Given the description of an element on the screen output the (x, y) to click on. 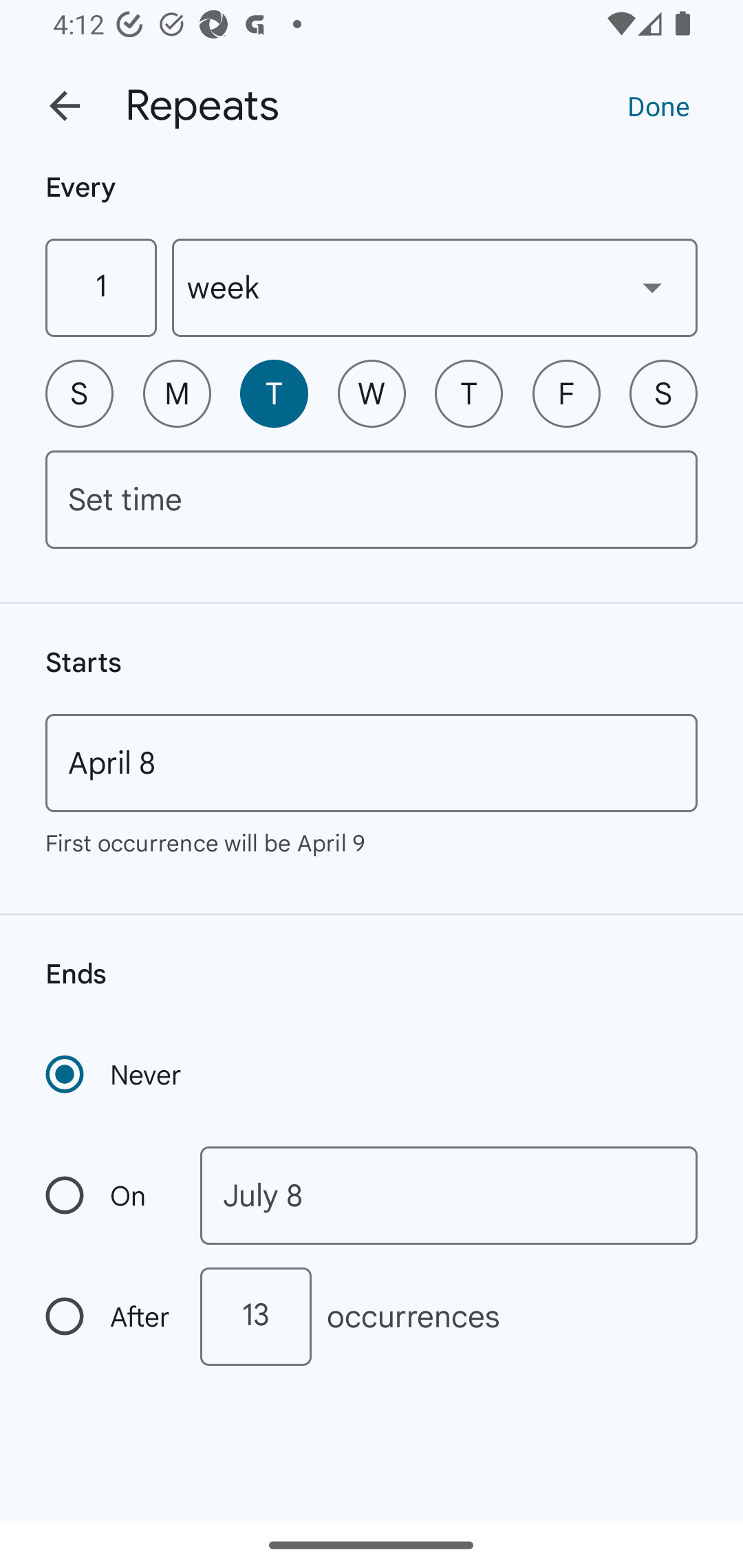
Back (64, 105)
Done (658, 105)
1 (100, 287)
week (434, 287)
Show dropdown menu (652, 286)
S Sunday (79, 393)
M Monday (177, 393)
T Tuesday, selected (273, 393)
W Wednesday (371, 393)
T Thursday (468, 393)
F Friday (566, 393)
S Saturday (663, 393)
Set time (371, 499)
April 8 (371, 762)
Never Recurrence never ends (115, 1074)
July 8 (448, 1195)
On Recurrence ends on a specific date (109, 1195)
13 (255, 1315)
